Given the description of an element on the screen output the (x, y) to click on. 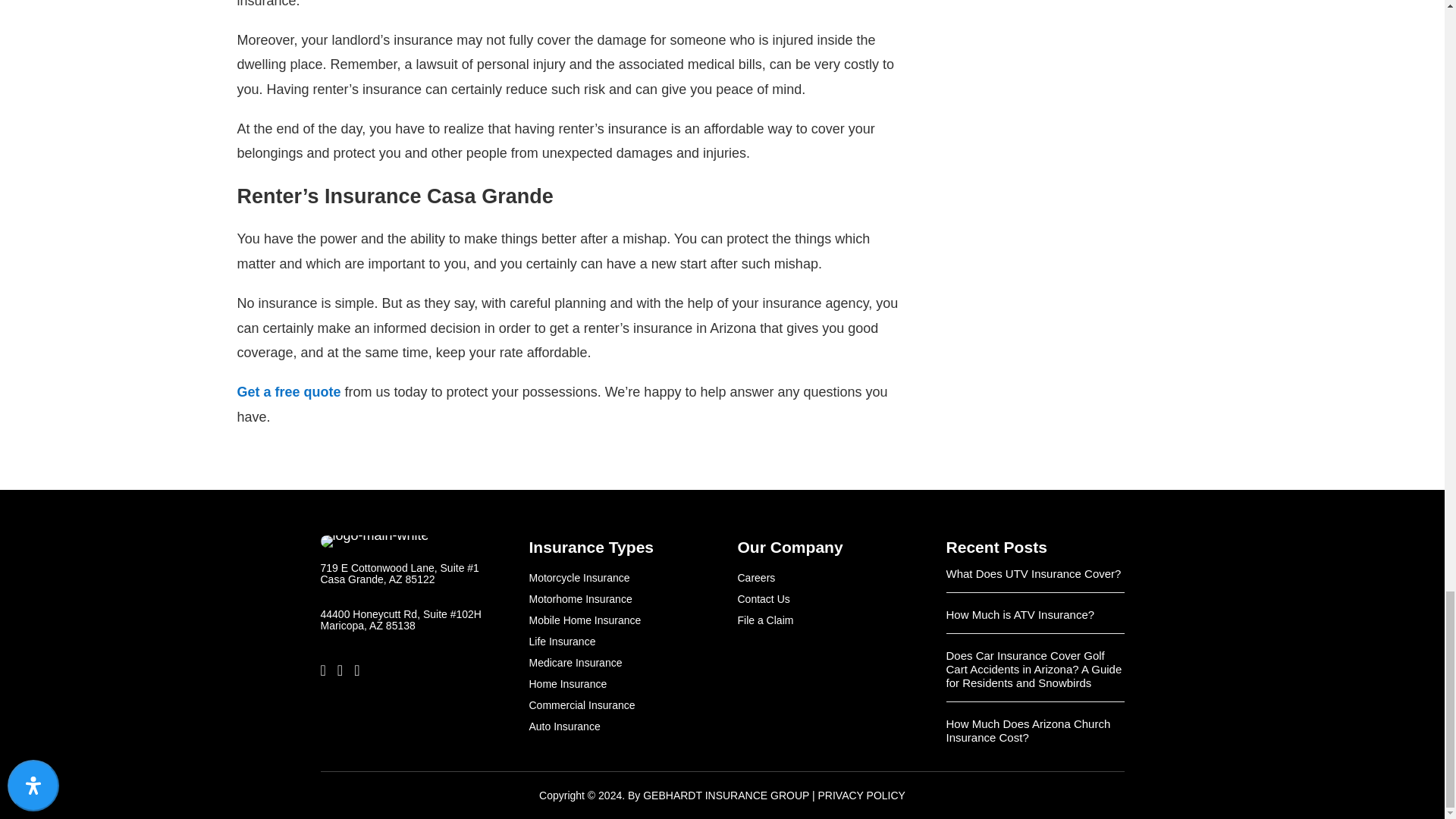
logo-main-white (374, 541)
What Does UTV Insurance Cover? (1033, 573)
How Much Does Arizona Church Insurance Cost? (1028, 730)
5-star-yelp (376, 711)
How Much is ATV Insurance? (1020, 614)
